Given the description of an element on the screen output the (x, y) to click on. 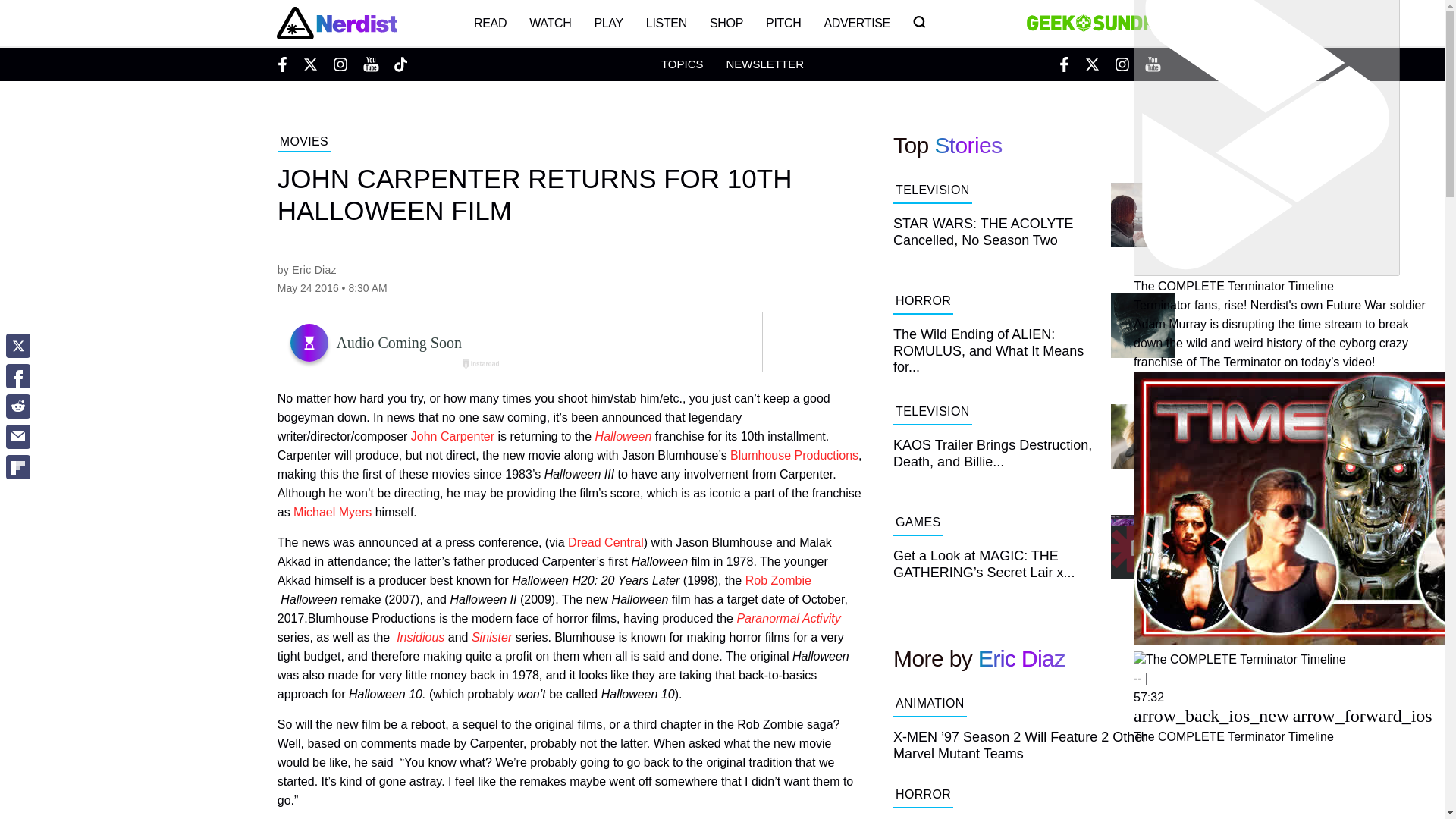
SHOP (726, 22)
PLAY (607, 22)
LISTEN (666, 22)
LISTEN (666, 22)
Blumhouse Productions (794, 454)
John Carpenter (452, 436)
Topics (681, 63)
Halloween (623, 436)
READ (490, 22)
SHOP (726, 22)
